Given the description of an element on the screen output the (x, y) to click on. 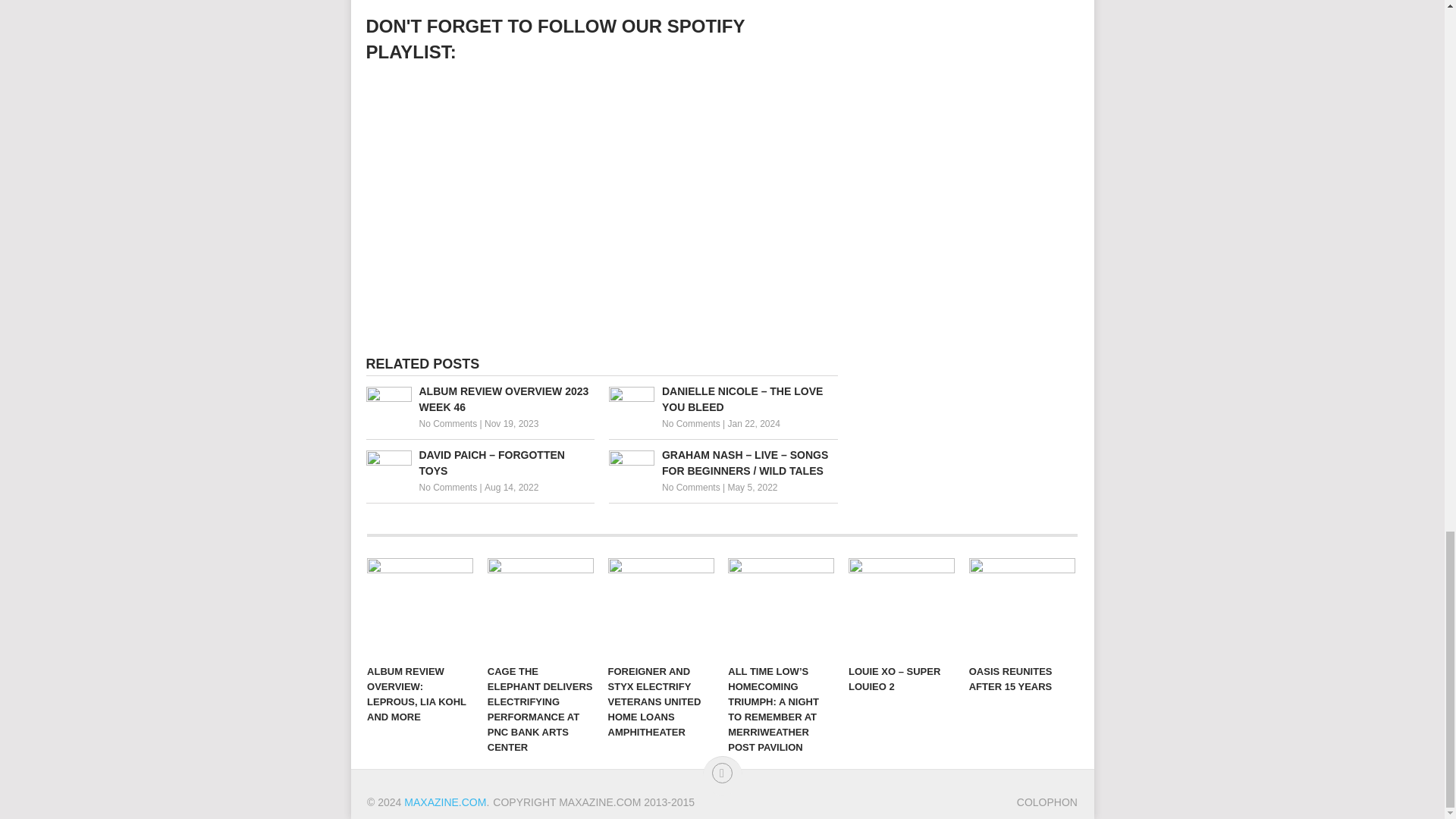
No Comments (448, 423)
No Comments (691, 423)
No Comments (691, 487)
No Comments (448, 487)
ALBUM REVIEW OVERVIEW 2023 WEEK 46 (479, 399)
Album review overview 2023 week 46 (479, 399)
